Given the description of an element on the screen output the (x, y) to click on. 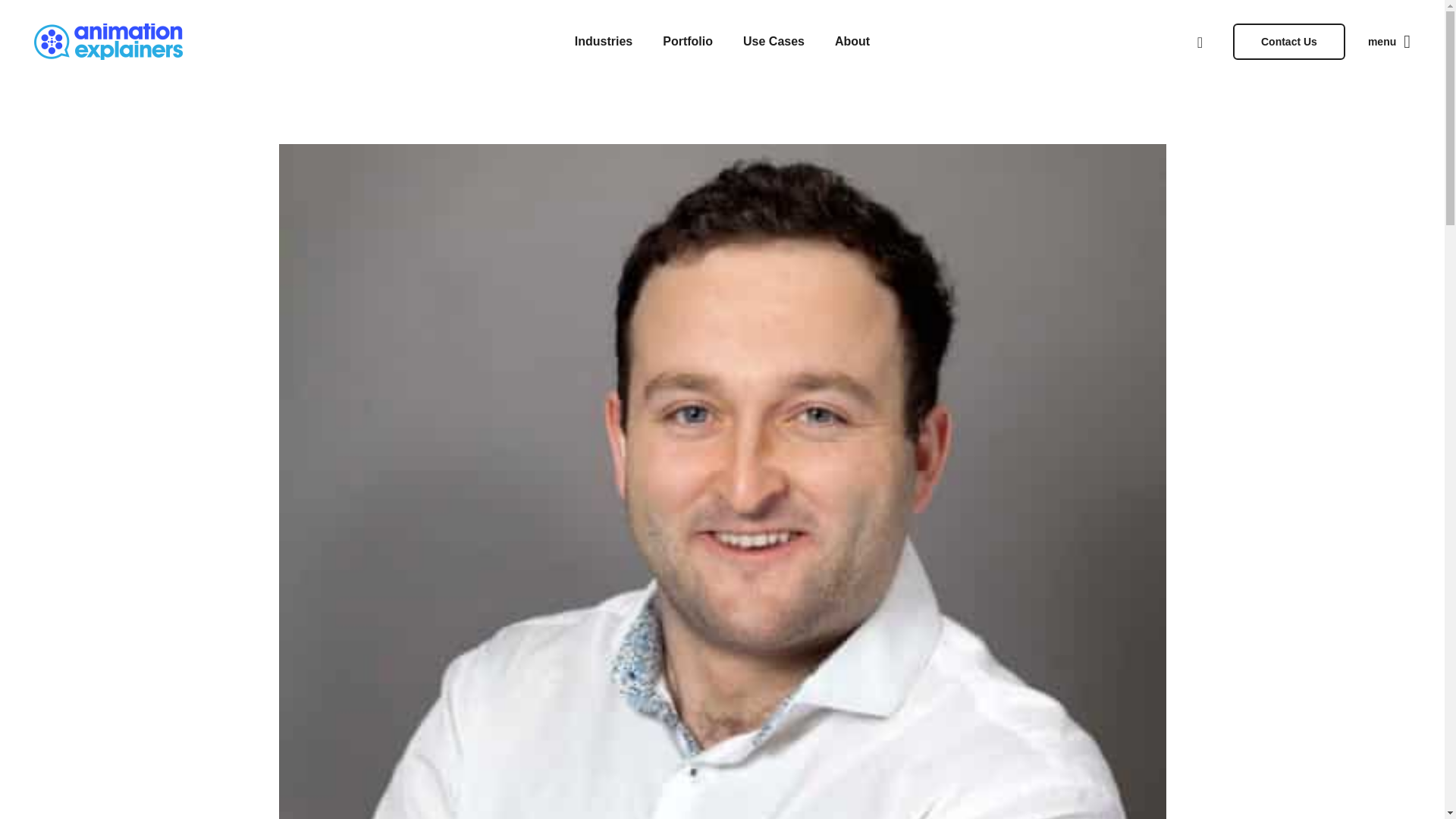
Use Cases (773, 41)
Portfolio (687, 41)
Contact Us (1289, 41)
Industries (603, 41)
